Given the description of an element on the screen output the (x, y) to click on. 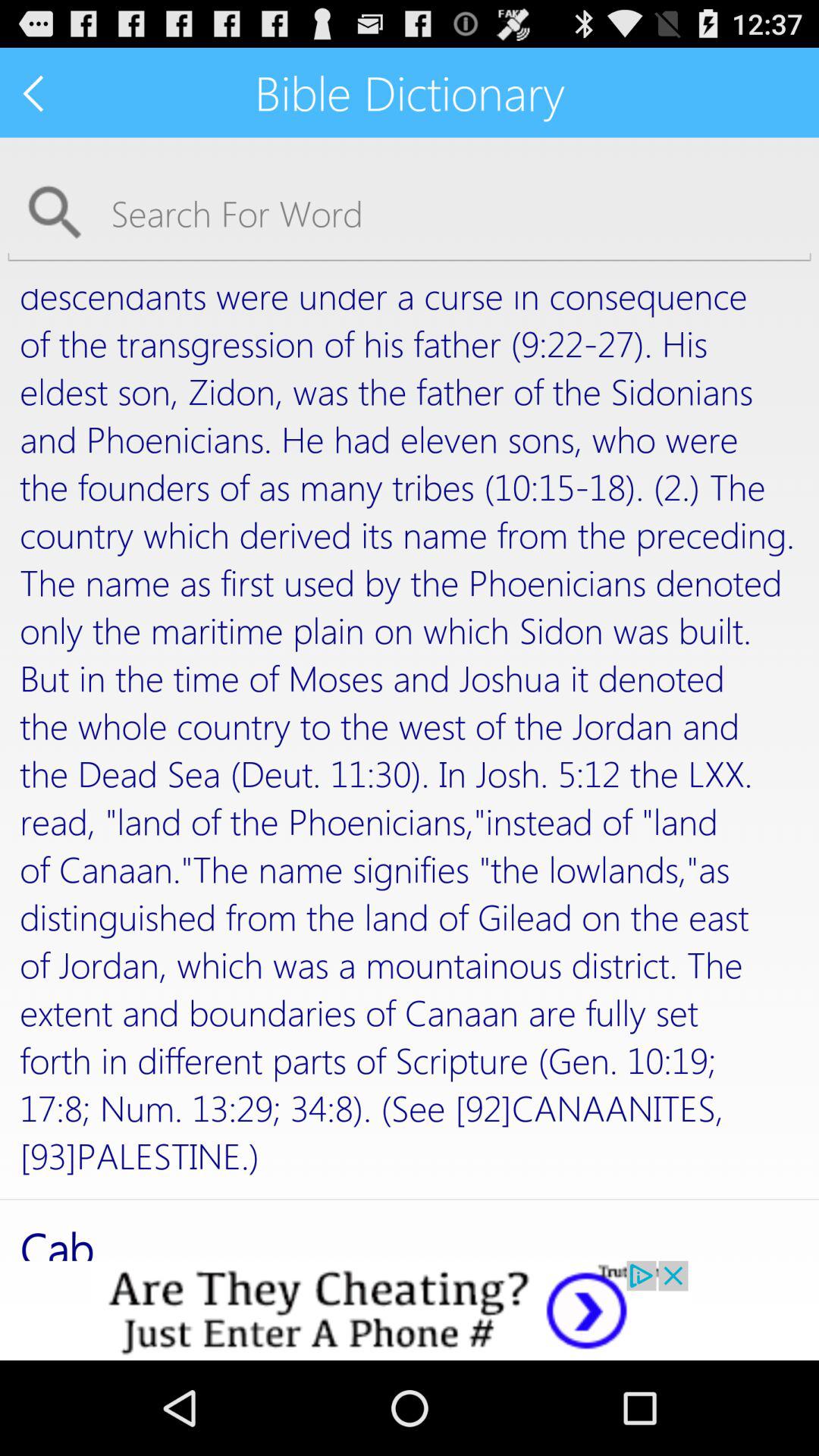
search button (409, 213)
